Given the description of an element on the screen output the (x, y) to click on. 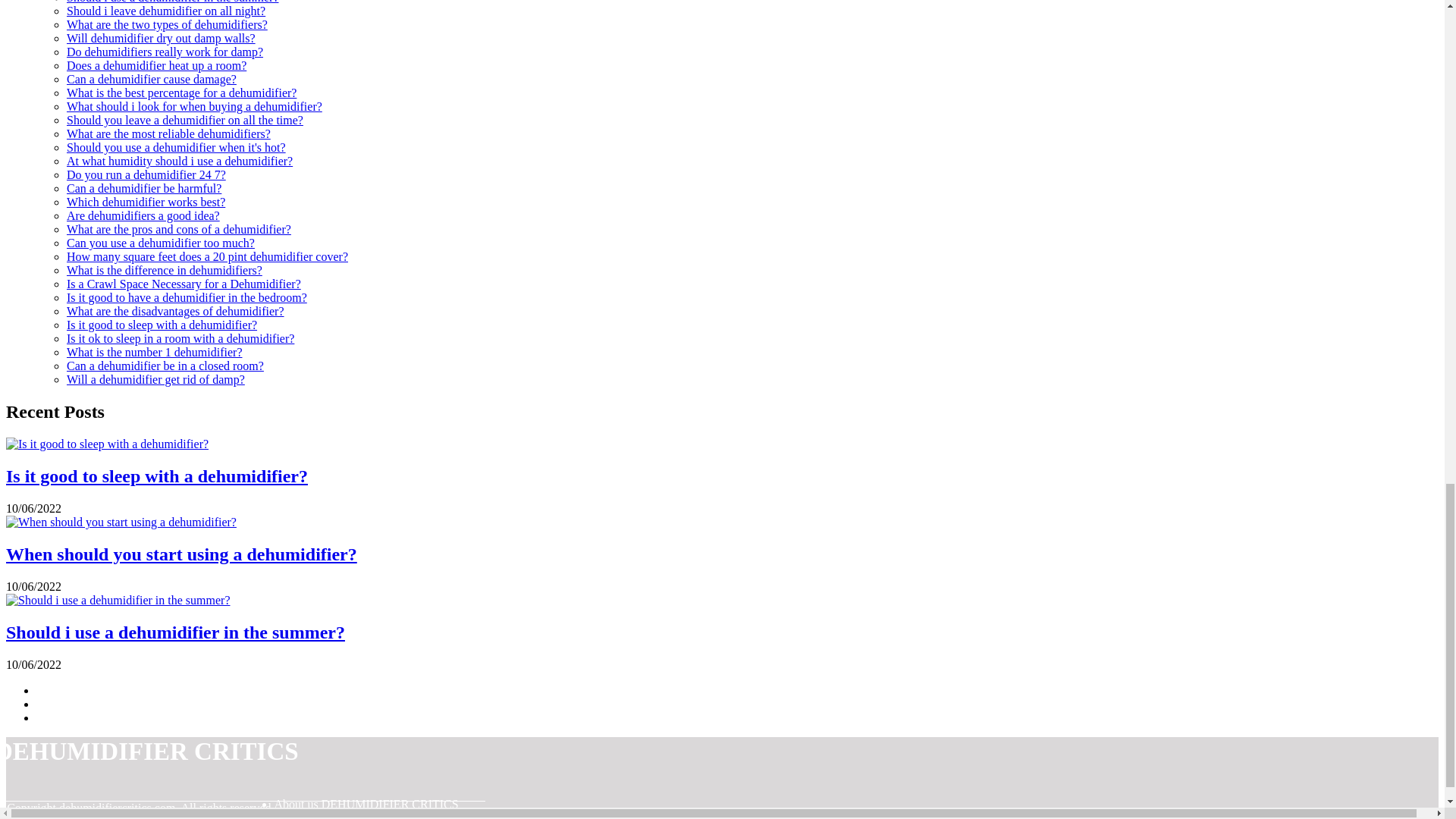
Should i leave dehumidifier on all night? (165, 10)
What is the best percentage for a dehumidifier? (181, 92)
Will dehumidifier dry out damp walls? (161, 38)
What are the two types of dehumidifiers? (166, 24)
Does a dehumidifier heat up a room? (156, 65)
What should i look for when buying a dehumidifier? (193, 106)
Can a dehumidifier cause damage? (150, 78)
Should i use a dehumidifier in the summer? (172, 2)
Do dehumidifiers really work for damp? (164, 51)
